Given the description of an element on the screen output the (x, y) to click on. 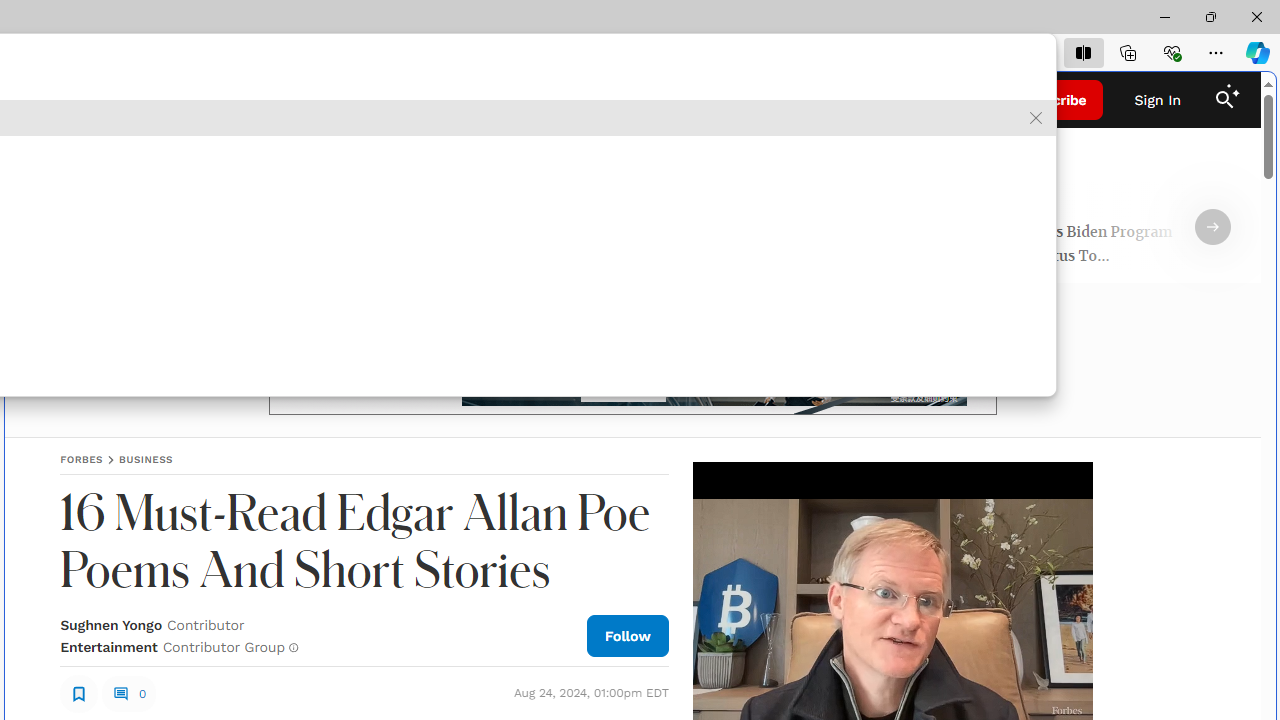
Class: fs-icon fs-icon--arrow-right (1212, 227)
Jack Smith Files New Indictment Against Trump In Jan. 6 Case (220, 245)
Entertainment (108, 646)
0 (128, 693)
Open Navigation Menu (40, 99)
Subscribe To Newsletters (173, 99)
Class: fs-icon fs-icon--comment (120, 693)
Class: sparkles_svg__fs-icon sparkles_svg__fs-icon--sparkles (1233, 91)
FORBES (81, 459)
